Given the description of an element on the screen output the (x, y) to click on. 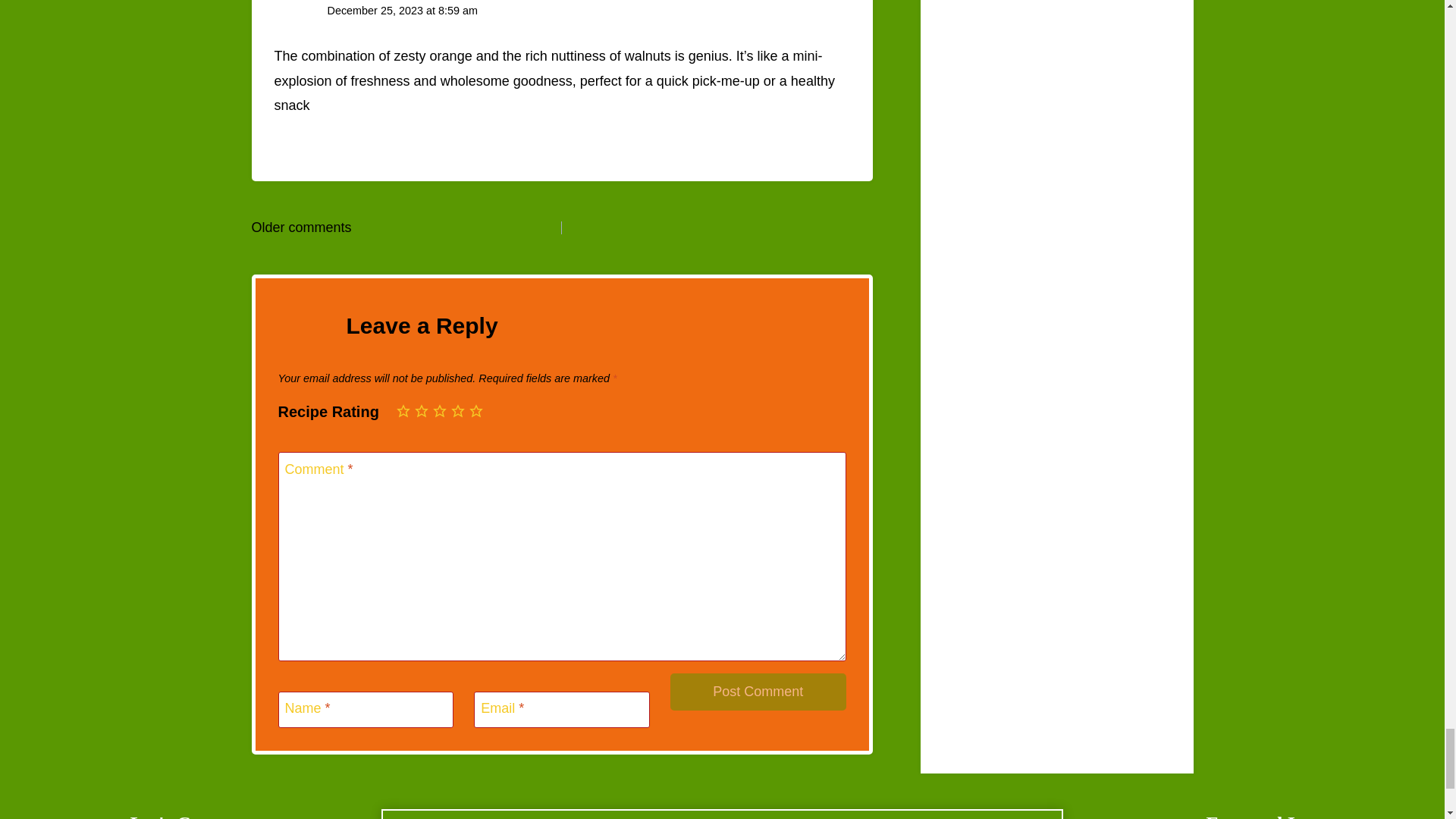
Post Comment (757, 691)
